Given the description of an element on the screen output the (x, y) to click on. 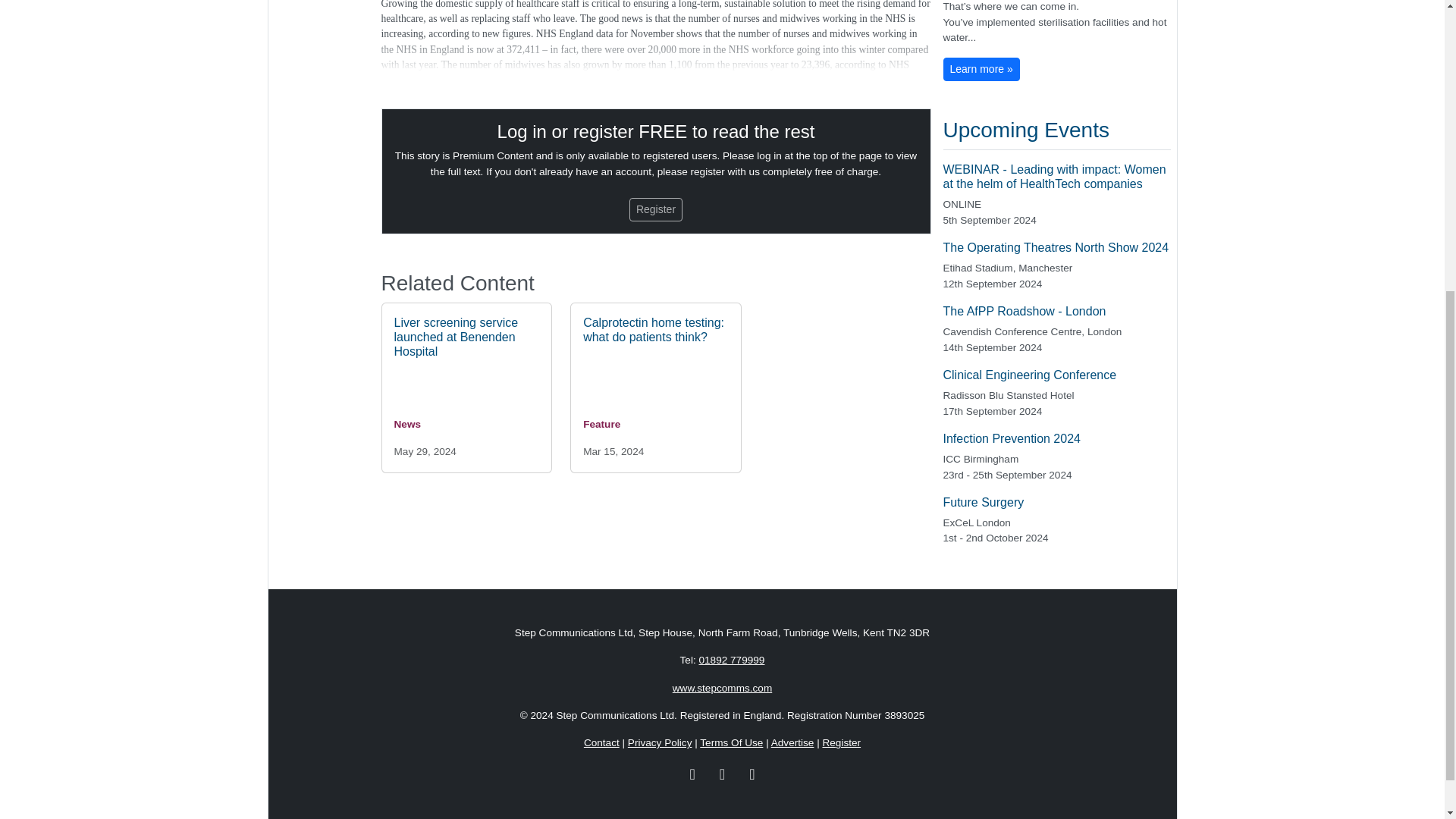
Subscribe to our RSS feed (751, 772)
Join our LinkedIn group! (692, 772)
